Given the description of an element on the screen output the (x, y) to click on. 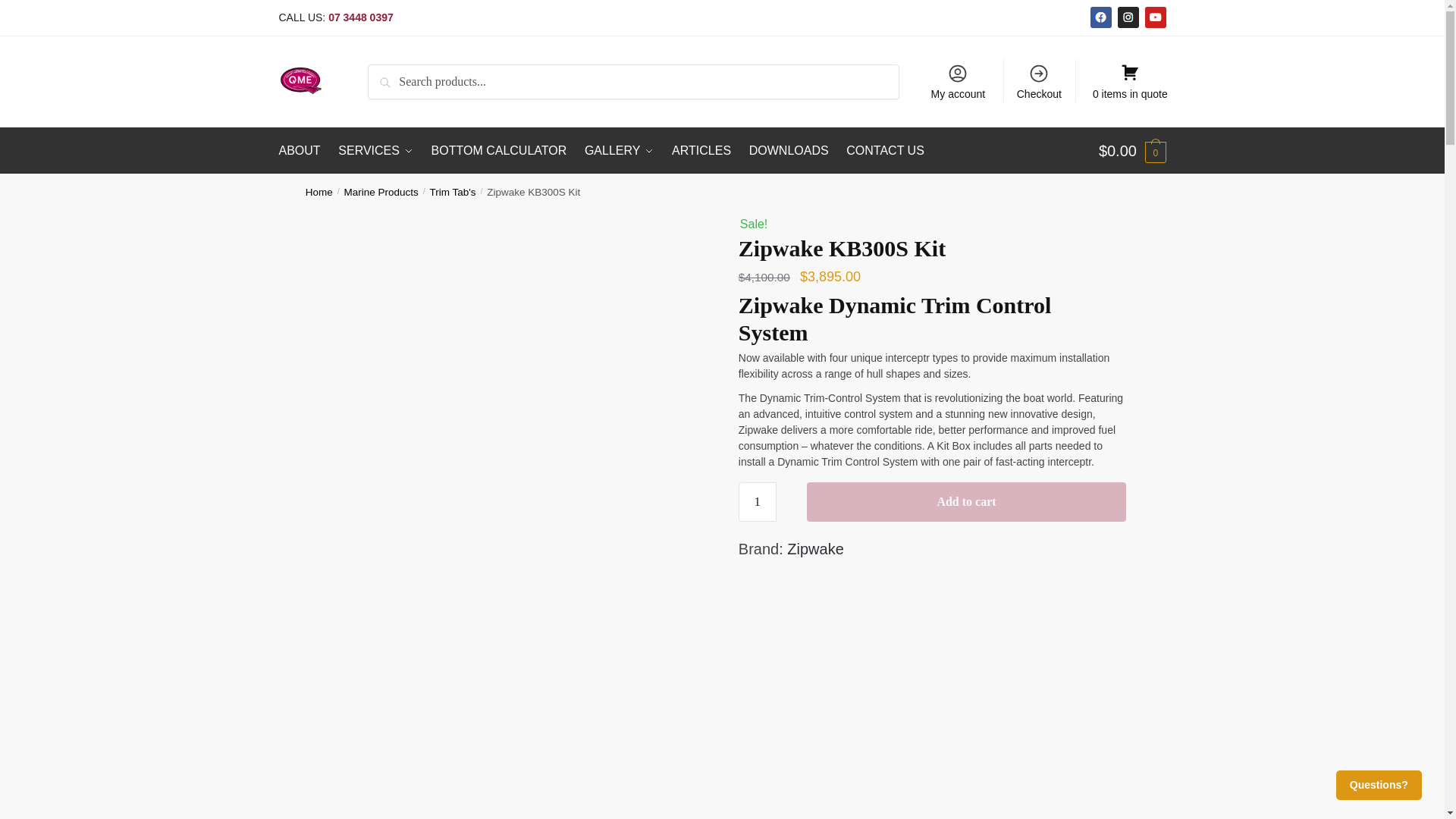
DOWNLOADS (788, 150)
1 (757, 501)
0 items in quote (1128, 80)
Search (392, 77)
BOTTOM CALCULATOR (499, 150)
07 3448 0397 (361, 17)
SERVICES (375, 150)
My account (957, 80)
View Quote (1128, 80)
CONTACT US (885, 150)
